Given the description of an element on the screen output the (x, y) to click on. 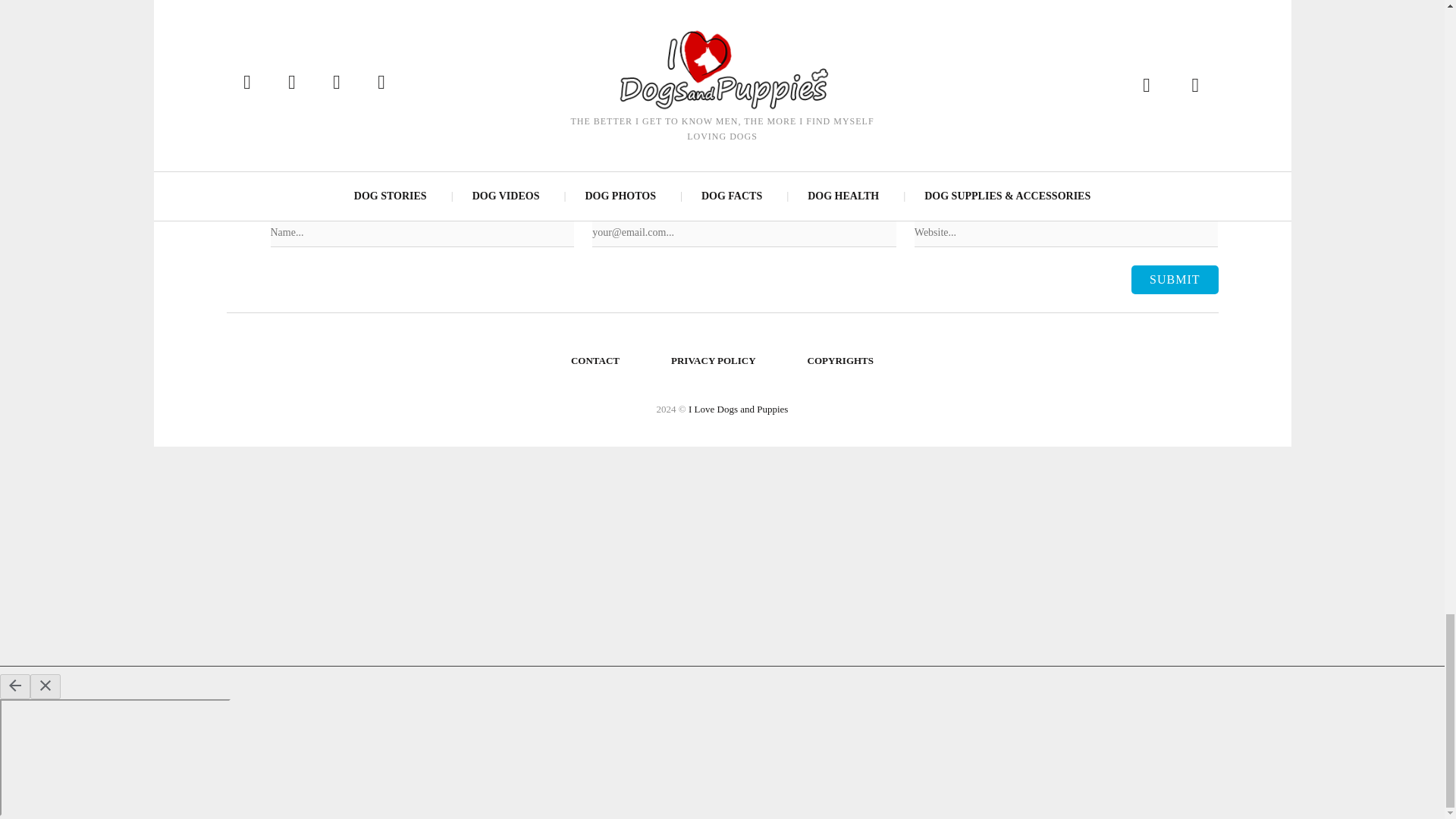
I Love Dogs and Puppies (737, 408)
Submit (1174, 279)
CONTACT (595, 360)
Submit (1174, 279)
COPYRIGHTS (839, 360)
PRIVACY POLICY (714, 360)
ADD YOURS (456, 9)
